Given the description of an element on the screen output the (x, y) to click on. 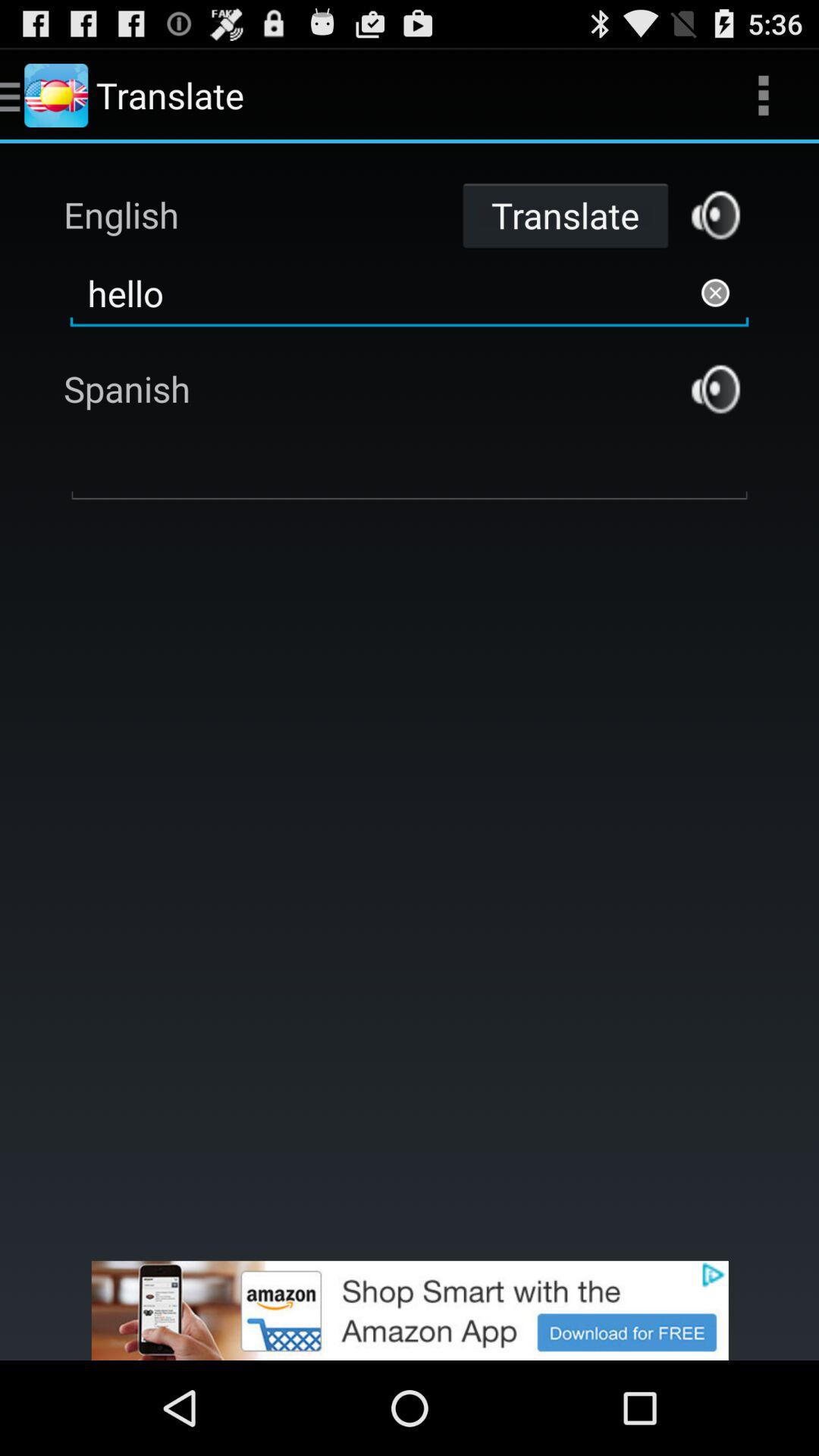
listen to translation (715, 388)
